Given the description of an element on the screen output the (x, y) to click on. 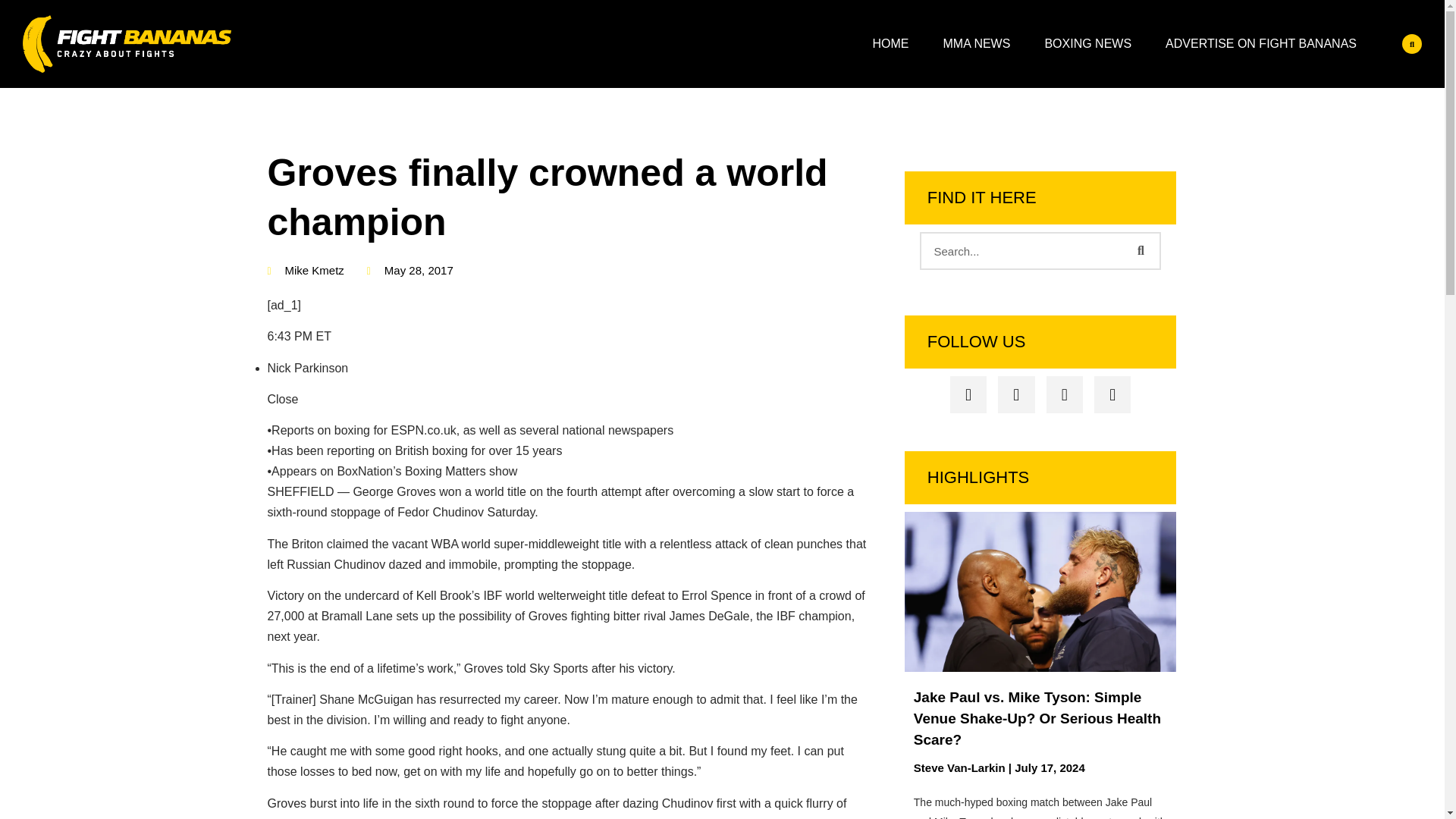
Mike Kmetz (304, 271)
BOXING NEWS (1088, 43)
ADVERTISE ON FIGHT BANANAS (1260, 43)
Search (1139, 250)
HOME (890, 43)
MMA NEWS (977, 43)
May 28, 2017 (409, 271)
Search (1021, 250)
